Given the description of an element on the screen output the (x, y) to click on. 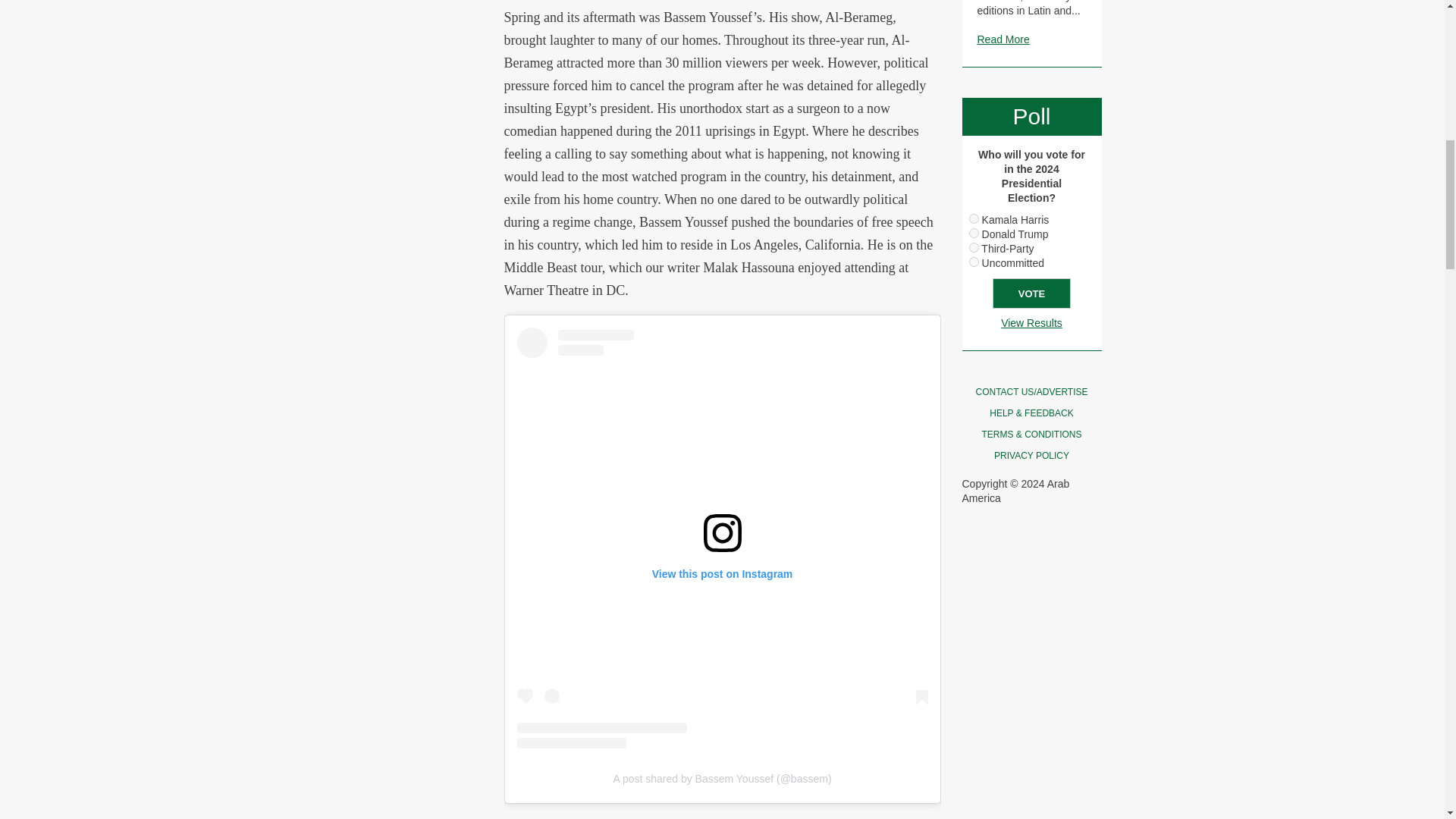
32 (973, 261)
View Results Of This Poll (1031, 322)
30 (973, 233)
31 (973, 247)
29 (973, 218)
   Vote    (1031, 293)
